Given the description of an element on the screen output the (x, y) to click on. 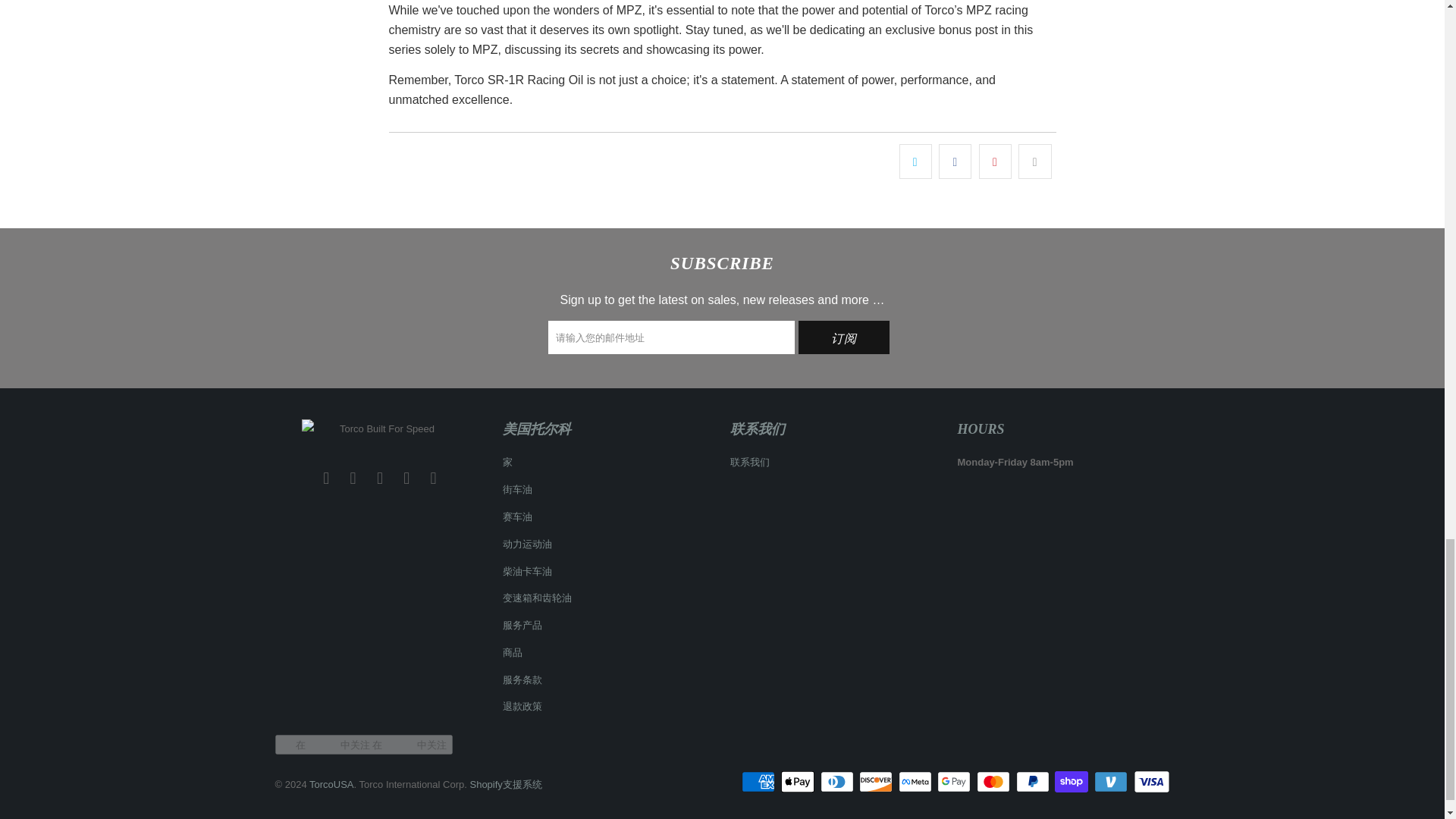
Google Pay (955, 781)
Shop Pay (1072, 781)
Meta Pay (916, 781)
Diners Club (839, 781)
American Express (759, 781)
PayPal (1034, 781)
Discover (877, 781)
Apple Pay (798, 781)
Visa (1150, 781)
Mastercard (994, 781)
